Given the description of an element on the screen output the (x, y) to click on. 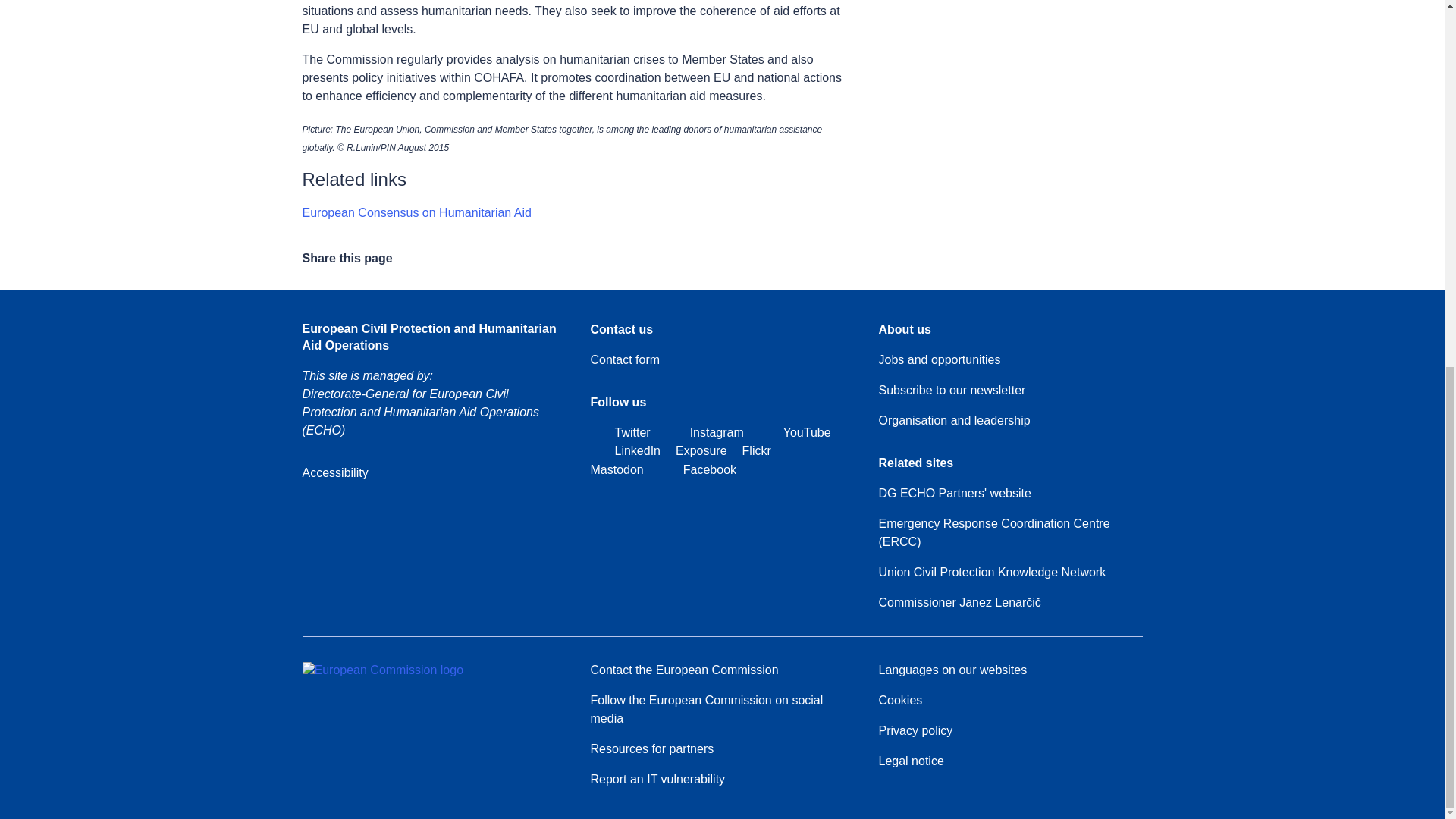
European Commission (382, 669)
